Given the description of an element on the screen output the (x, y) to click on. 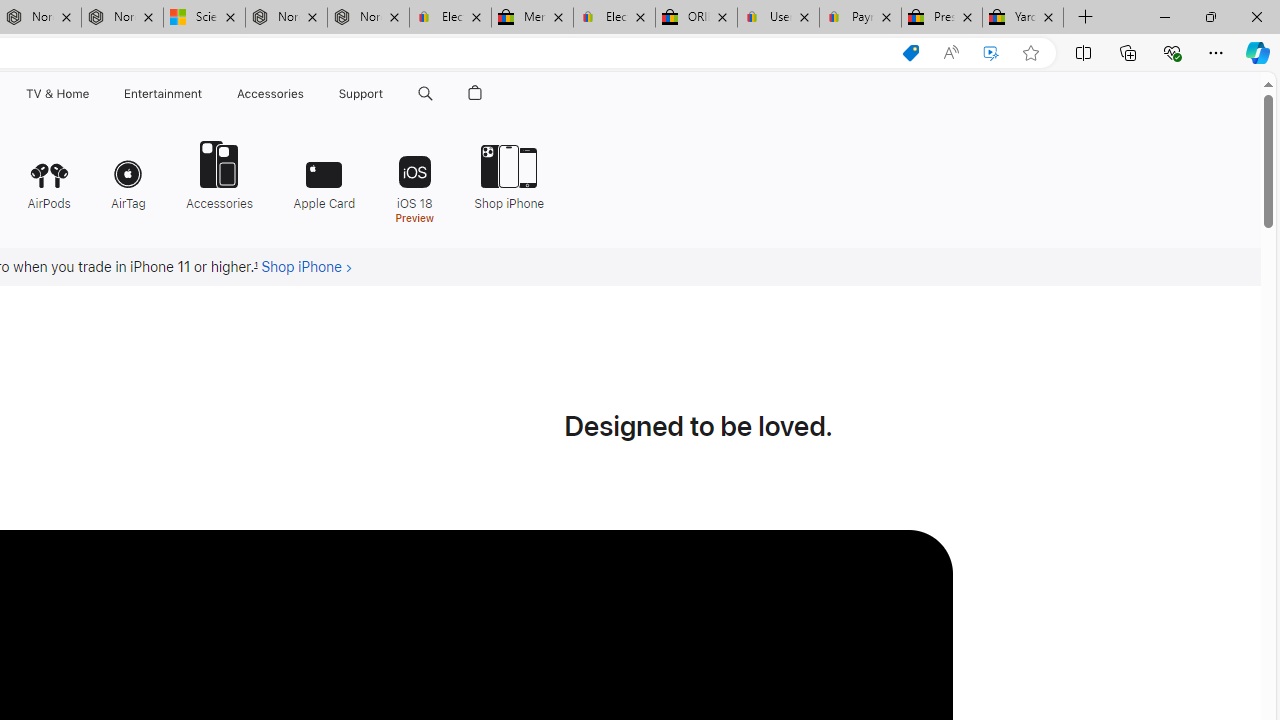
AutomationID: globalnav-bag (475, 93)
Press Room - eBay Inc. (941, 17)
Enhance video (991, 53)
This site has coupons! Shopping in Microsoft Edge (910, 53)
Apple Card (324, 173)
Shop iPhone (509, 173)
